Given the description of an element on the screen output the (x, y) to click on. 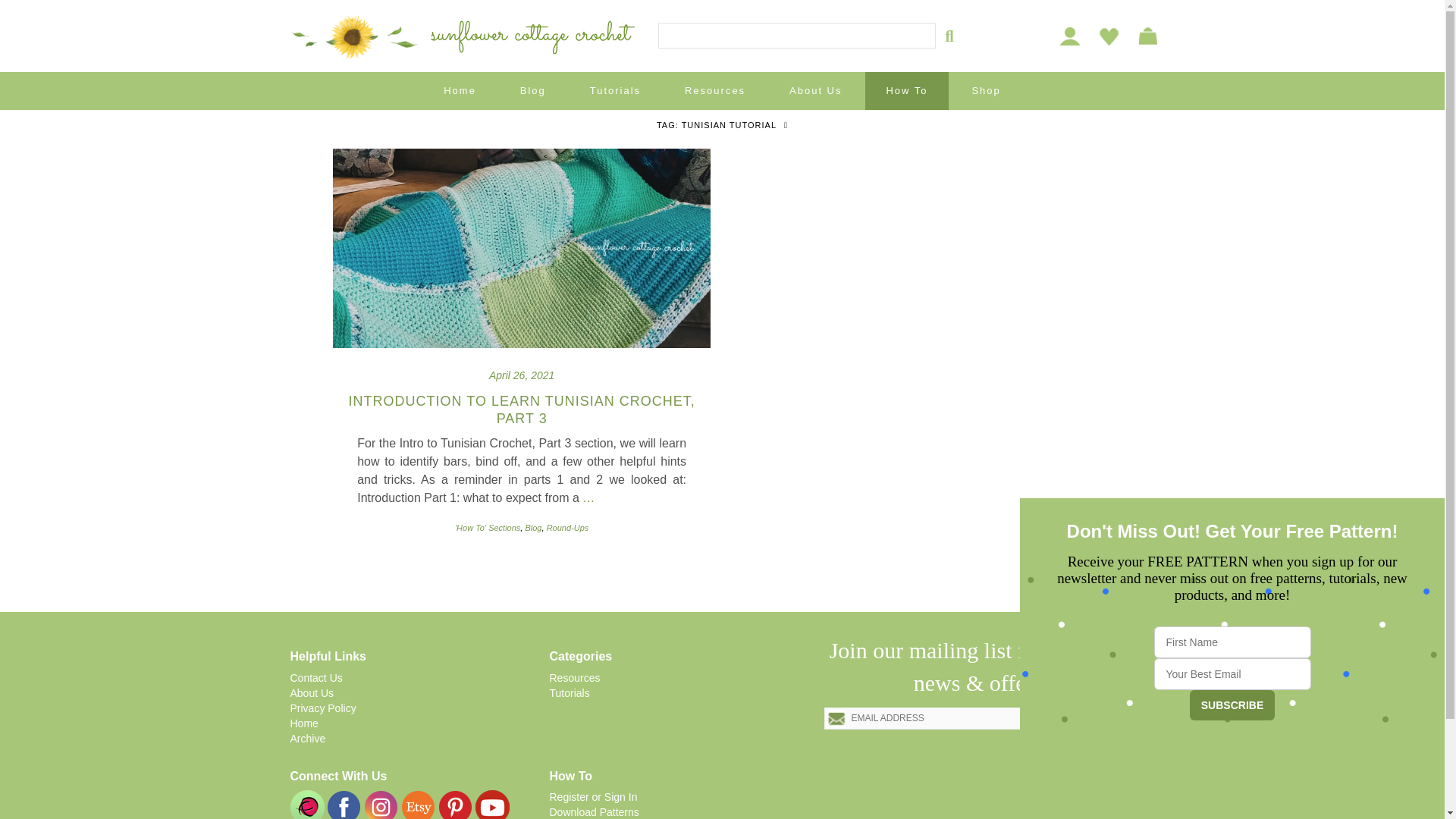
Home (459, 90)
Shop (985, 90)
How To (905, 90)
Introduction to Learn Tunisian Crochet, Part 3 (522, 409)
About Us (814, 90)
Blog (532, 90)
Tutorials (615, 90)
Resources (714, 90)
